Given the description of an element on the screen output the (x, y) to click on. 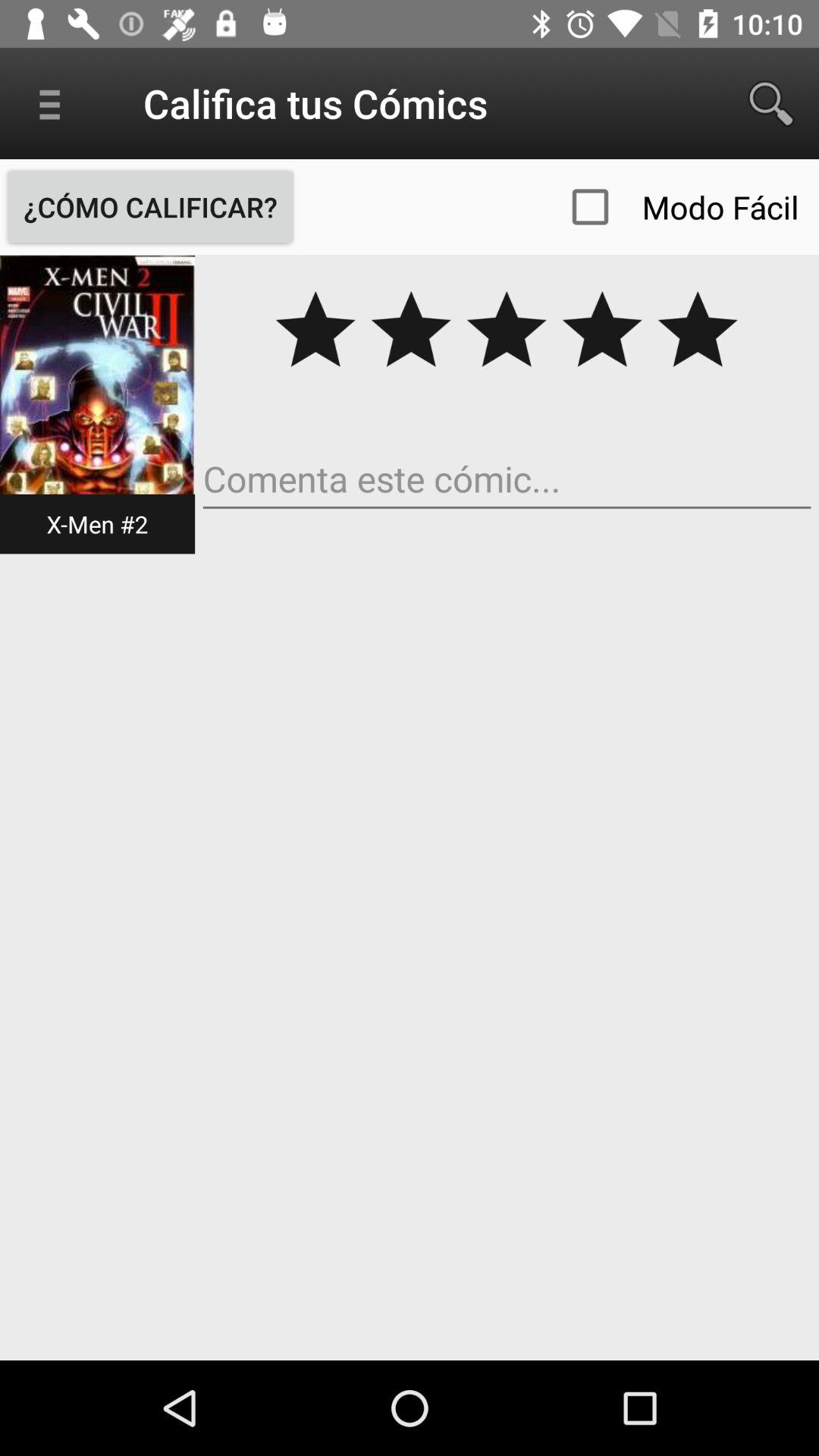
add comment (507, 479)
